Given the description of an element on the screen output the (x, y) to click on. 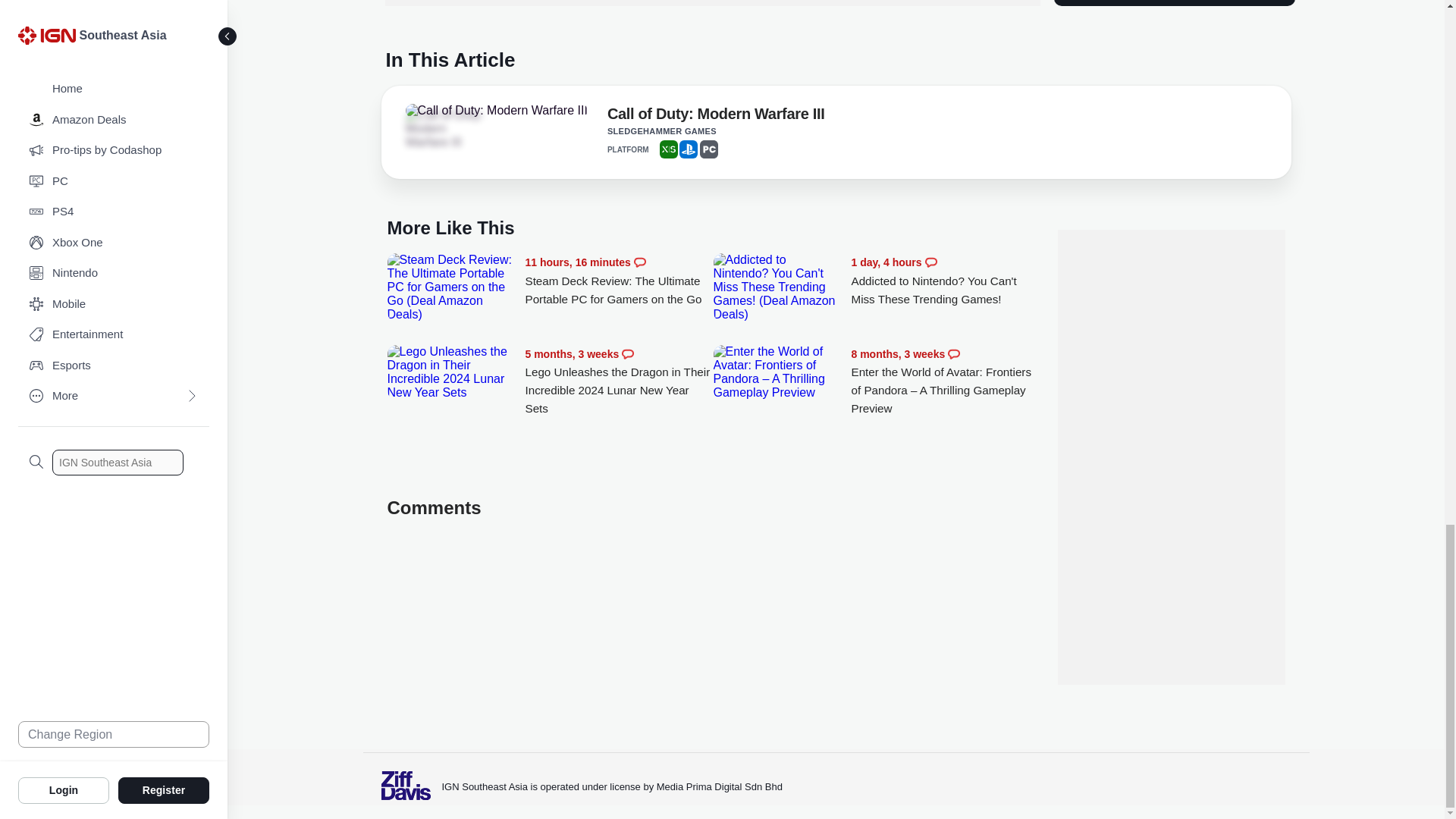
XBOXSERIES (668, 149)
Addicted to Nintendo? You Can't Miss These Trending Games! (778, 287)
Call of Duty: Modern Warfare III (495, 110)
Call of Duty: Modern Warfare III (448, 128)
Addicted to Nintendo? You Can't Miss These Trending Games! (944, 280)
Call of Duty: Modern Warfare III (716, 116)
PC (708, 149)
PS5 (688, 149)
